Given the description of an element on the screen output the (x, y) to click on. 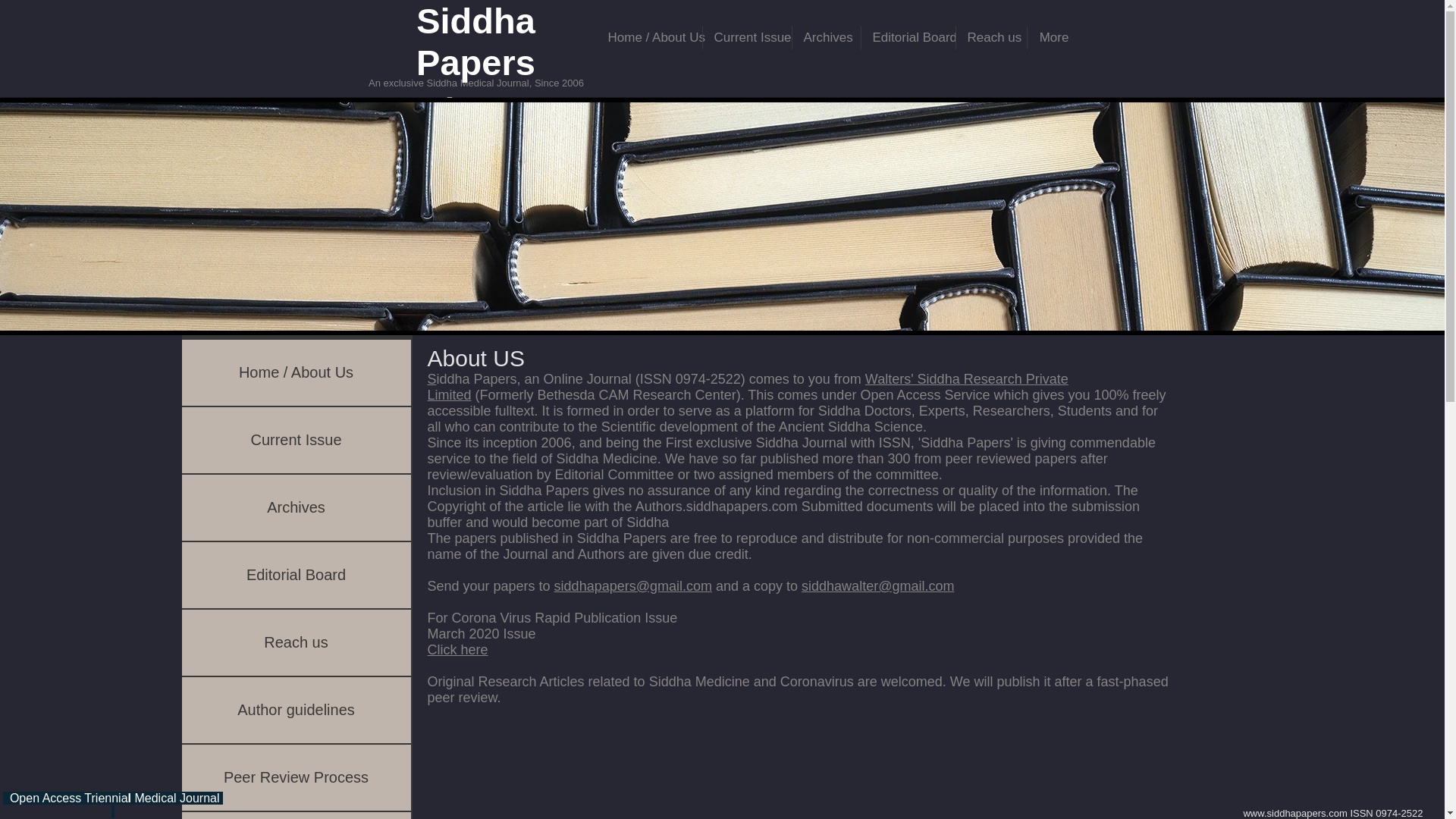
Author guidelines (296, 709)
Editorial Board (296, 575)
Walters' Siddha Research Private Limited (748, 386)
Archives (826, 37)
Archives (296, 507)
Editorial Board (908, 37)
Current Issue (745, 37)
www.siddhapapers.com (1294, 813)
Reach us (296, 642)
Peer Review Process (296, 777)
Current Issue (296, 440)
Reach us (990, 37)
Click here (457, 649)
Plagiarism Policy (296, 815)
